Given the description of an element on the screen output the (x, y) to click on. 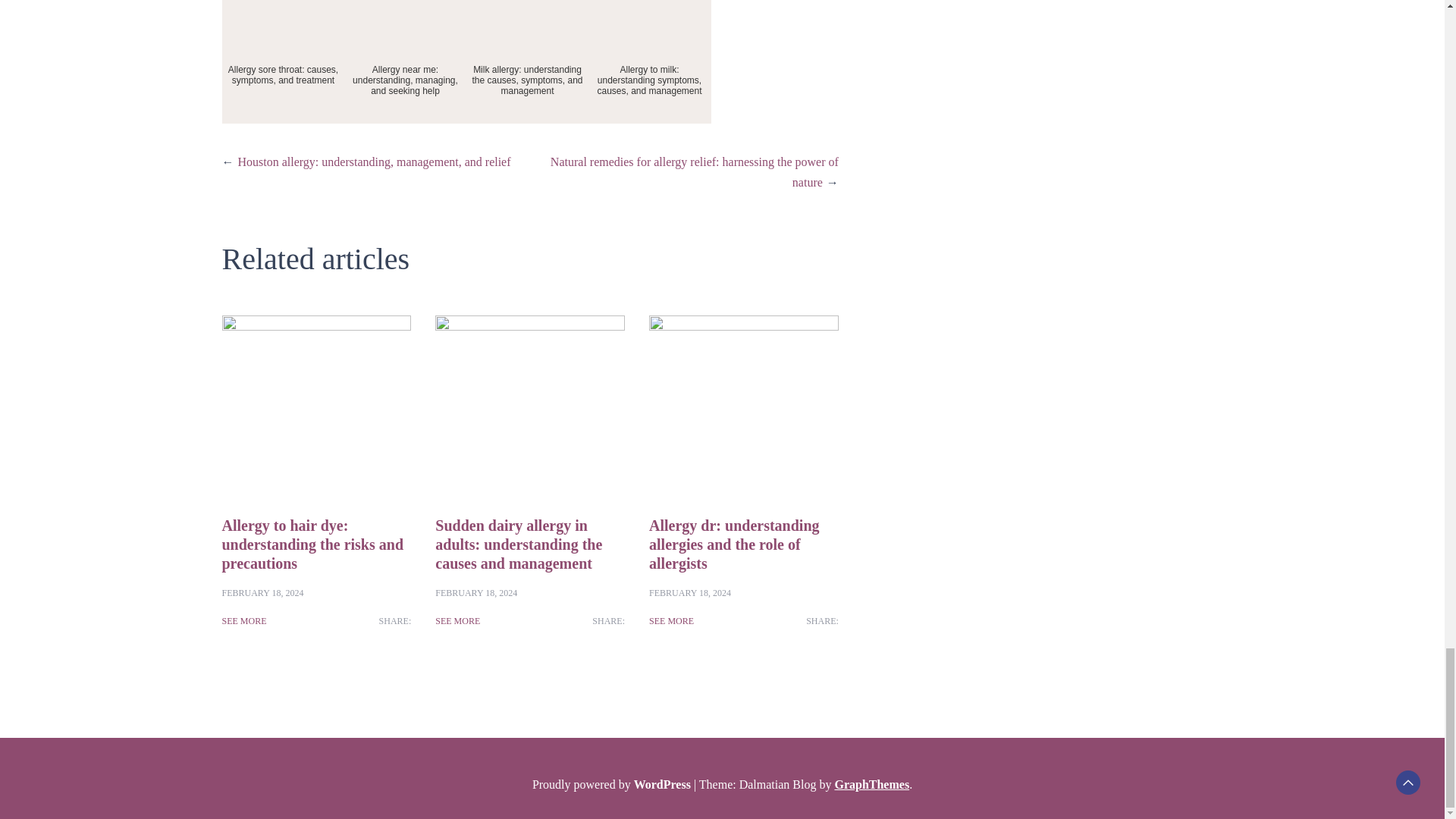
Houston allergy: understanding, management, and relief (374, 161)
FEBRUARY 18, 2024 (261, 592)
Allergy to hair dye: understanding the risks and precautions (312, 543)
SEE MORE (243, 620)
Allergy near me: understanding, managing, and seeking help (405, 61)
Allergy sore throat: causes, symptoms, and treatment (282, 61)
